Given the description of an element on the screen output the (x, y) to click on. 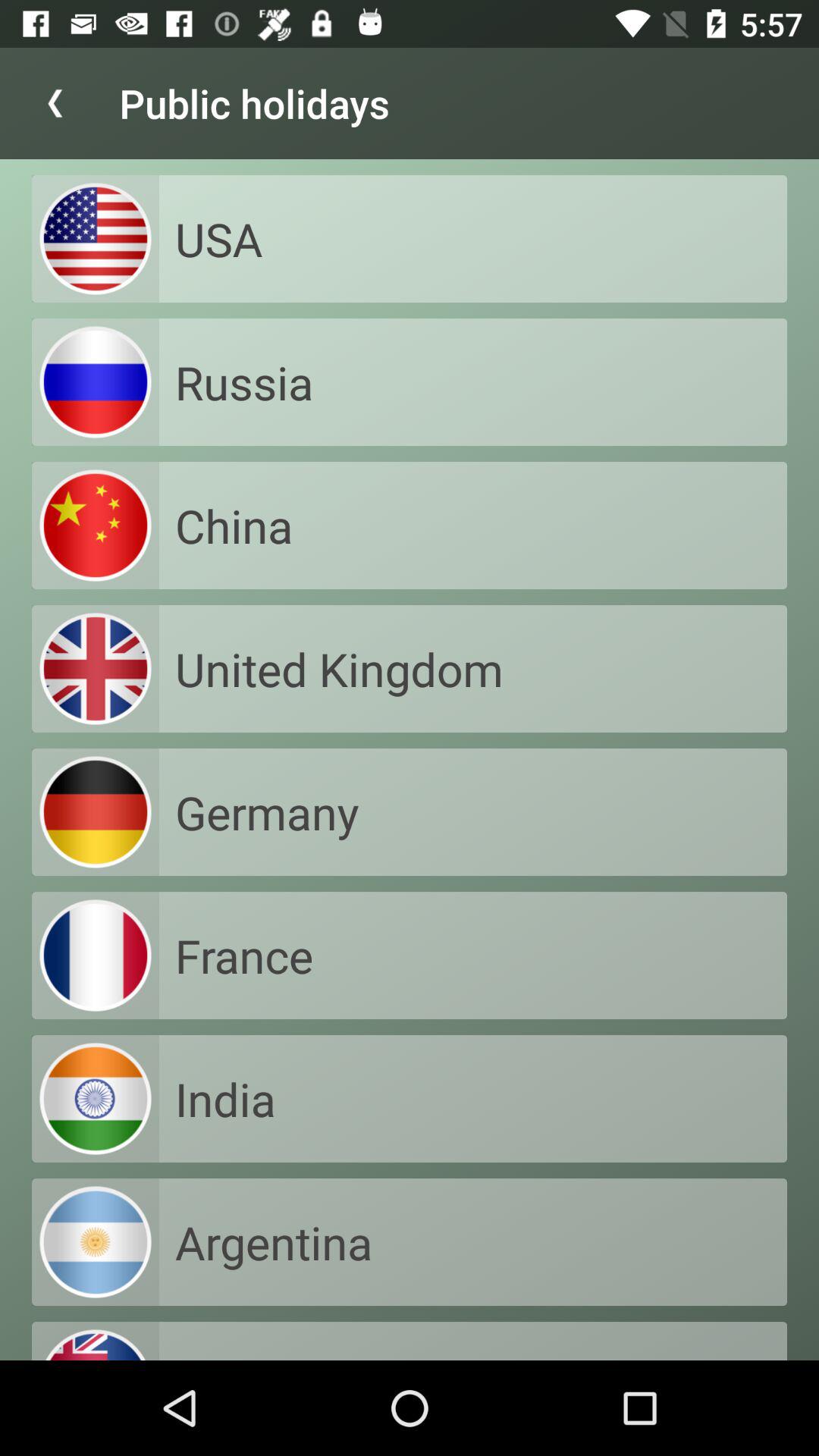
click the image on left to the text france on the web page (94, 955)
click on icon beside russia (94, 381)
click on the first image from the bottom (94, 1241)
